Given the description of an element on the screen output the (x, y) to click on. 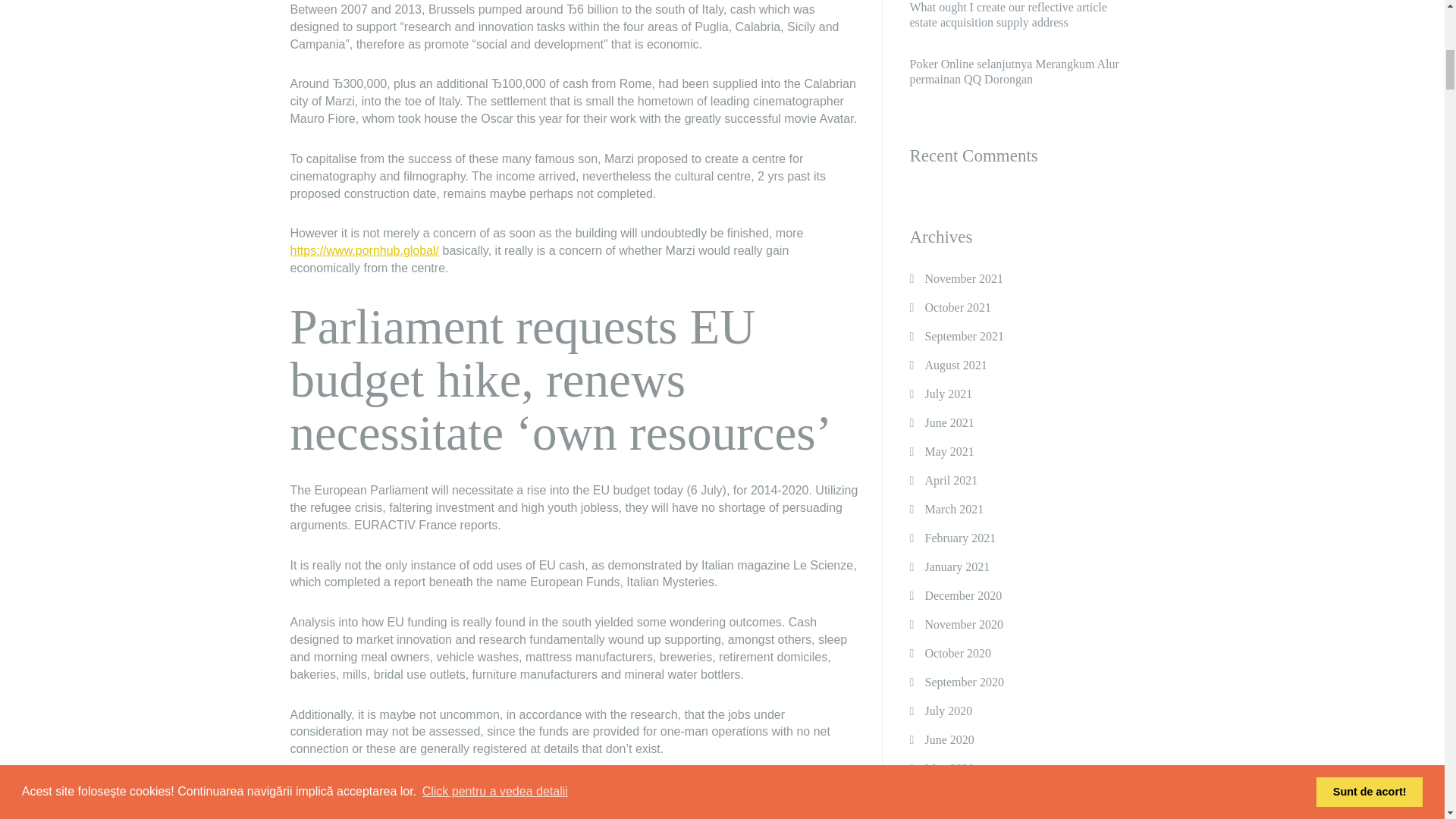
July 2021 (948, 394)
October 2020 (957, 653)
March 2021 (954, 509)
April 2021 (950, 480)
June 2021 (949, 422)
November 2020 (963, 624)
November 2021 (963, 278)
December 2020 (962, 595)
August 2021 (955, 365)
February 2021 (959, 538)
September 2021 (963, 336)
October 2021 (957, 307)
May 2021 (949, 451)
